Given the description of an element on the screen output the (x, y) to click on. 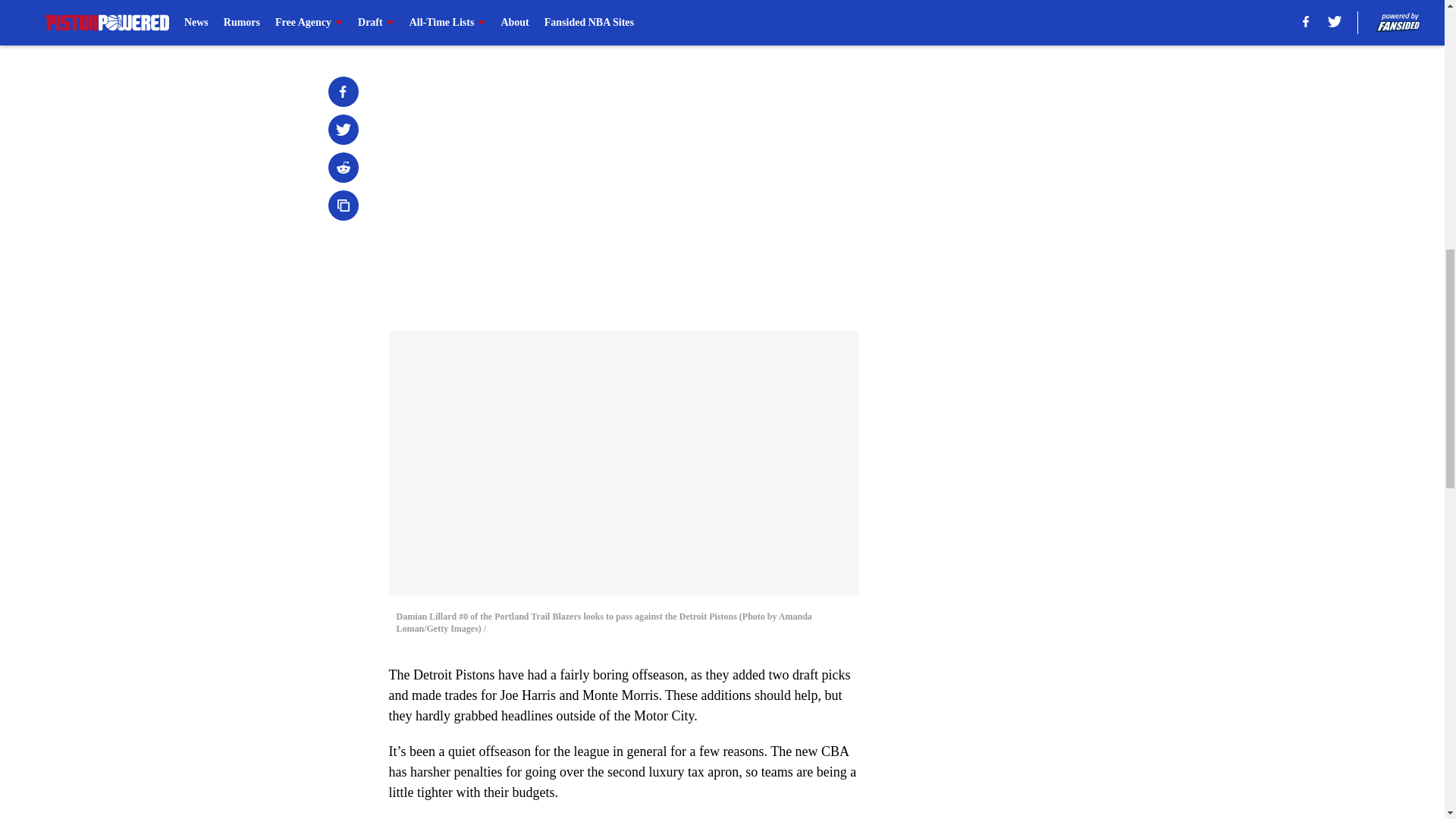
Next (813, 20)
Prev (433, 20)
